Given the description of an element on the screen output the (x, y) to click on. 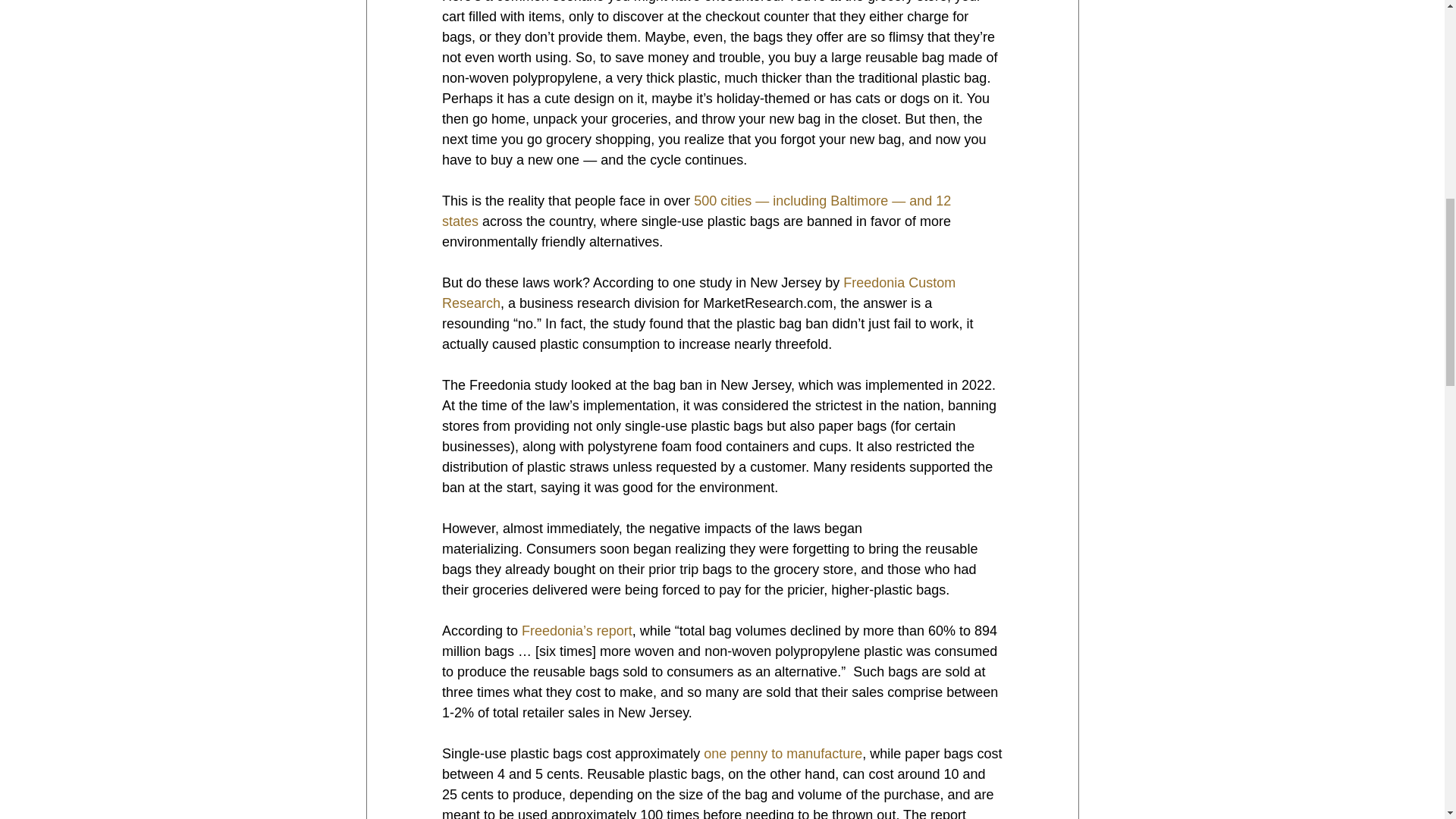
MarketResearch.com (767, 303)
Freedonia Custom Research (699, 293)
one penny to manufacture (782, 753)
